Given the description of an element on the screen output the (x, y) to click on. 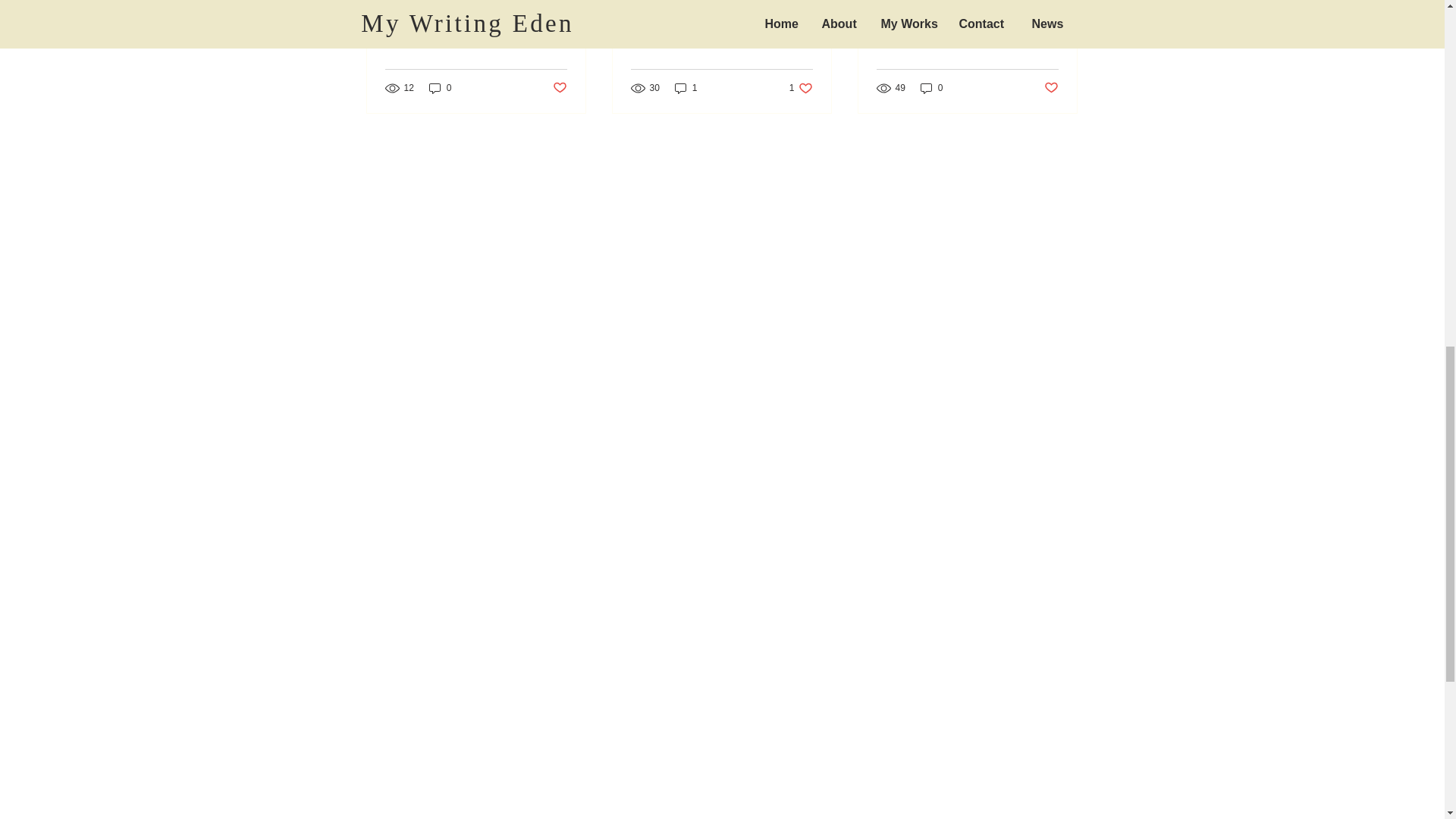
1 (685, 88)
0 (440, 88)
Post not marked as liked (1050, 88)
Season of Book Fairs (721, 26)
New Cover for Letters from the Gardener (476, 34)
Post not marked as liked (558, 88)
0 (931, 88)
Cultural Appropriation (967, 26)
